Given the description of an element on the screen output the (x, y) to click on. 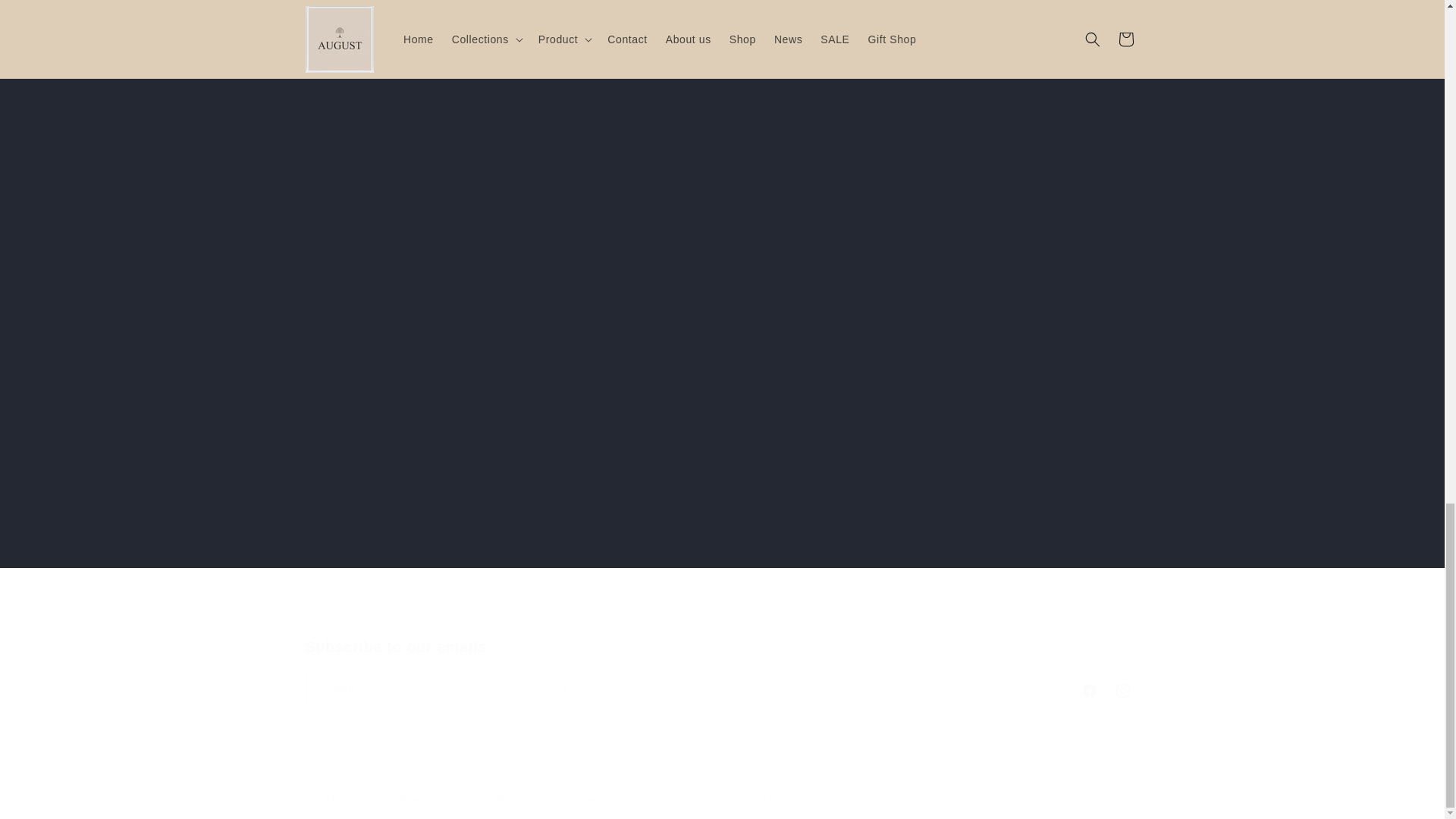
August Hosting (1038, 43)
August Decor (826, 43)
August Art (406, 43)
August Cushions (721, 672)
